Given the description of an element on the screen output the (x, y) to click on. 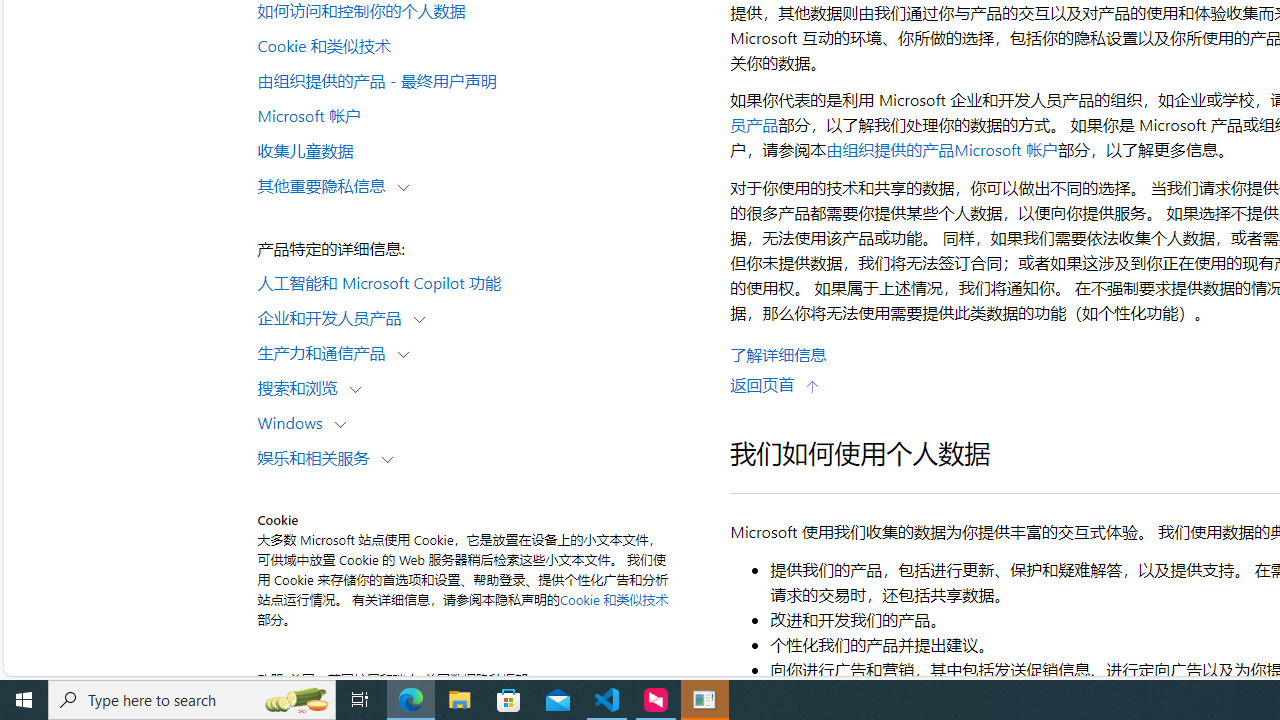
Windows (294, 421)
